Given the description of an element on the screen output the (x, y) to click on. 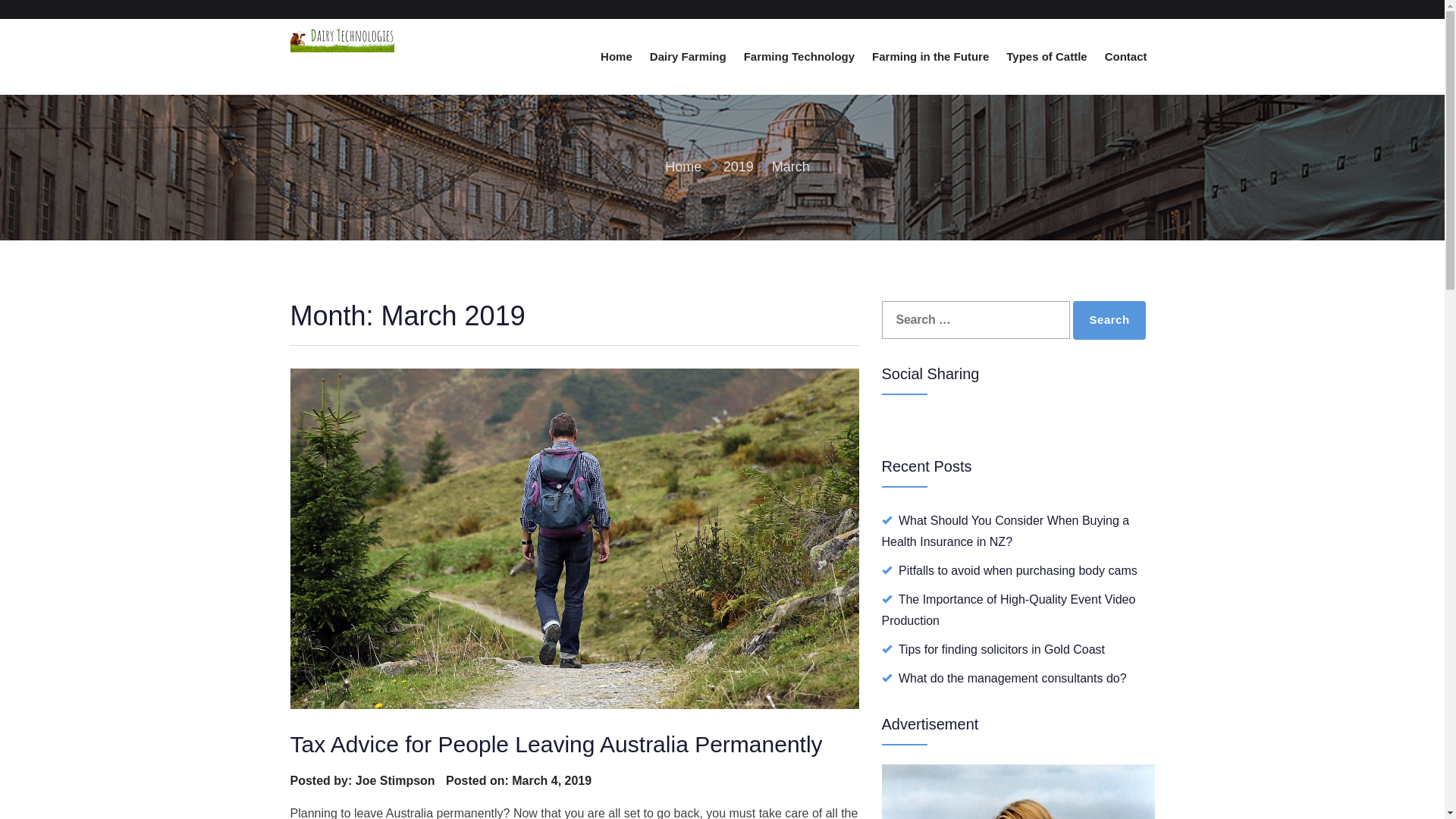
Types of Cattle Element type: text (1046, 56)
Contact Element type: text (1125, 56)
What do the management consultants do? Element type: text (1012, 677)
Tax Advice for People Leaving Australia Permanently Element type: hover (573, 538)
Tax Advice for People Leaving Australia Permanently Element type: text (555, 743)
Farming Technology Element type: text (799, 56)
Posted on: March 4, 2019 Element type: text (518, 780)
Farming in the Future Element type: text (930, 56)
Dairy Farming Element type: text (688, 56)
Search Element type: text (1109, 319)
Home Element type: text (616, 56)
Home Element type: text (683, 166)
The Importance of High-Quality Event Video Production Element type: text (1008, 610)
Posted by: Joe Stimpson Element type: text (361, 780)
Tips for finding solicitors in Gold Coast Element type: text (1001, 649)
Pitfalls to avoid when purchasing body cams Element type: text (1017, 570)
